Given the description of an element on the screen output the (x, y) to click on. 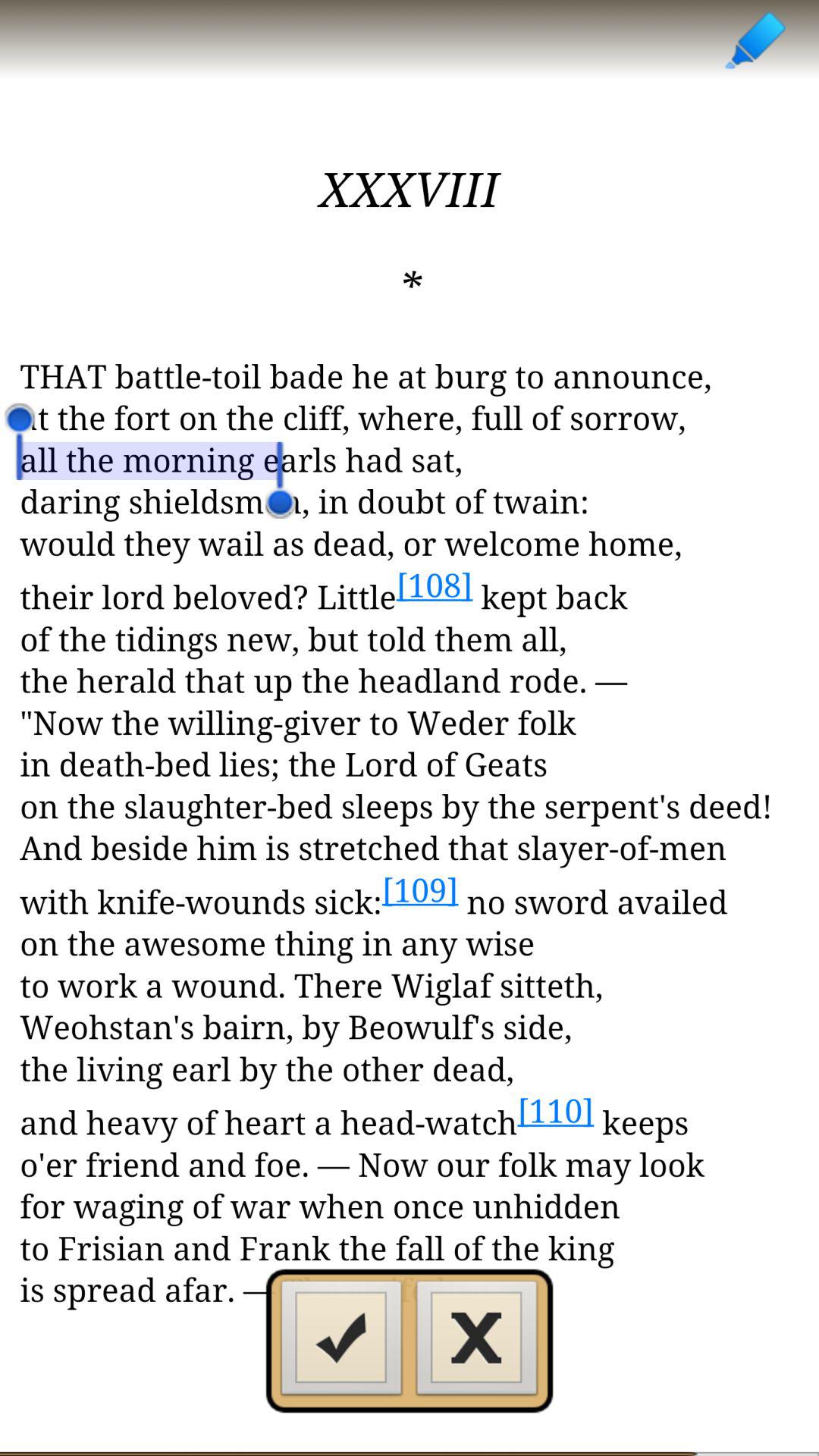
cancel the highlight (476, 1341)
